Given the description of an element on the screen output the (x, y) to click on. 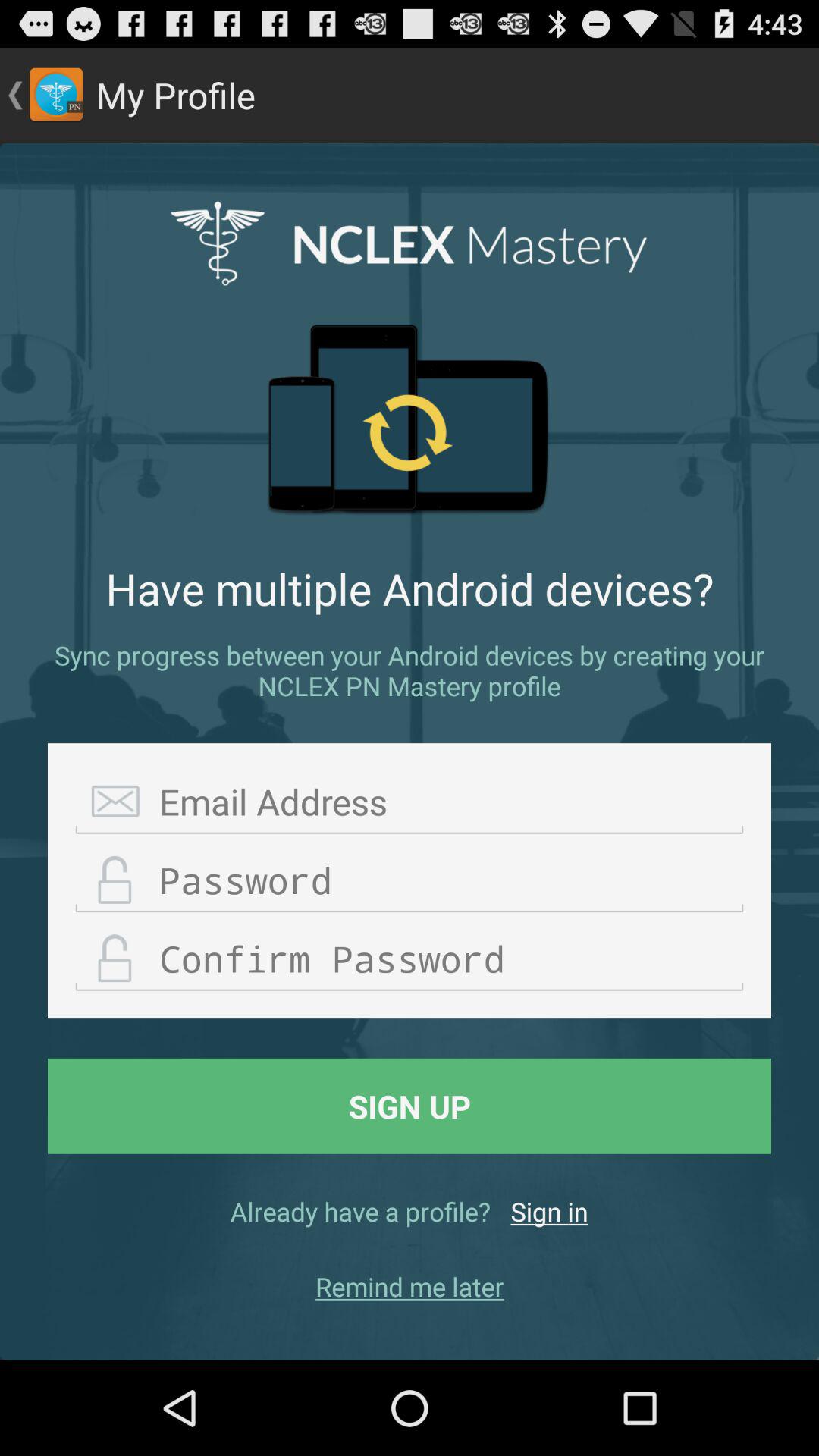
scroll to sign in item (549, 1211)
